Given the description of an element on the screen output the (x, y) to click on. 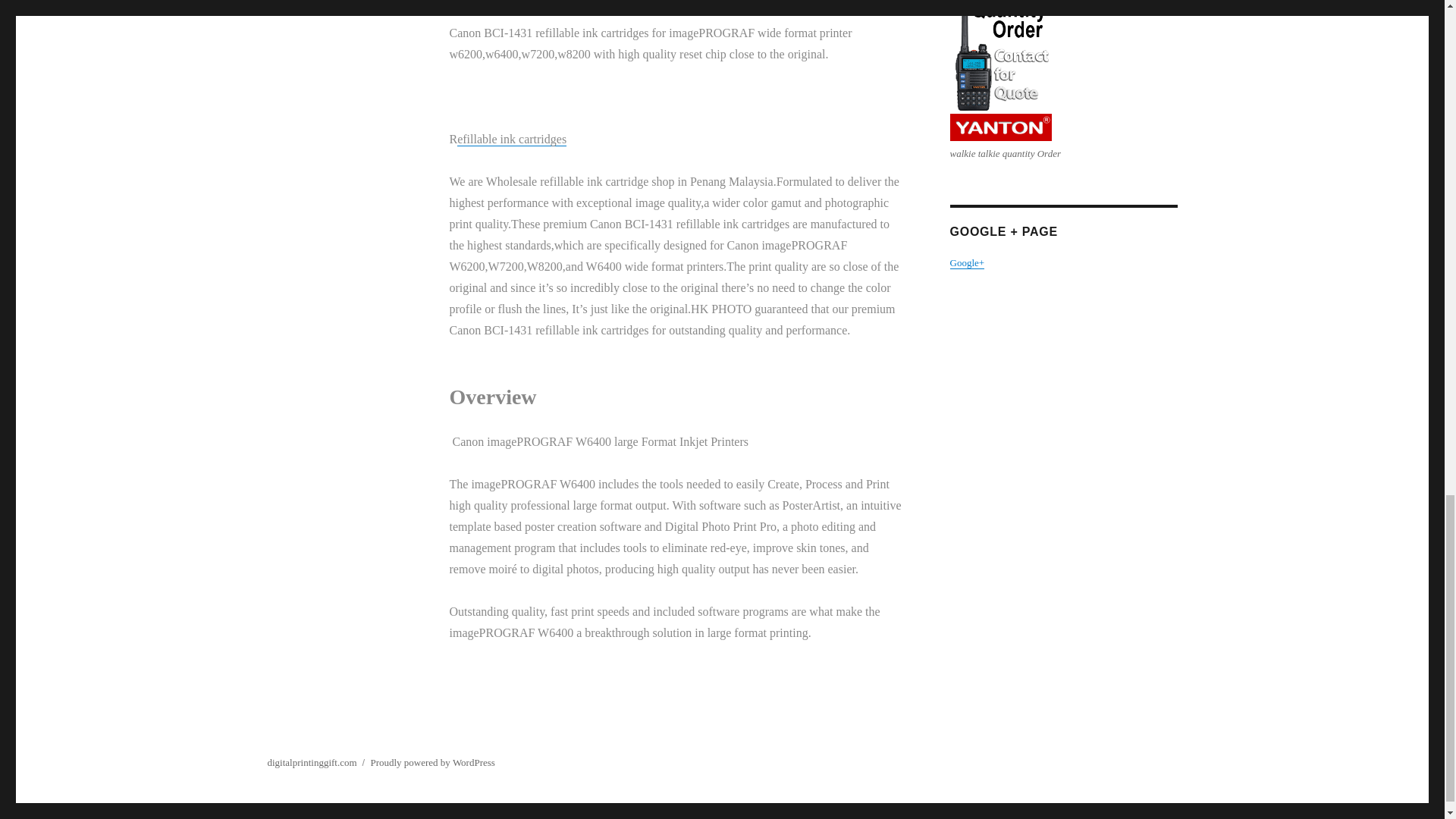
refillable ink cartridge (511, 138)
